Given the description of an element on the screen output the (x, y) to click on. 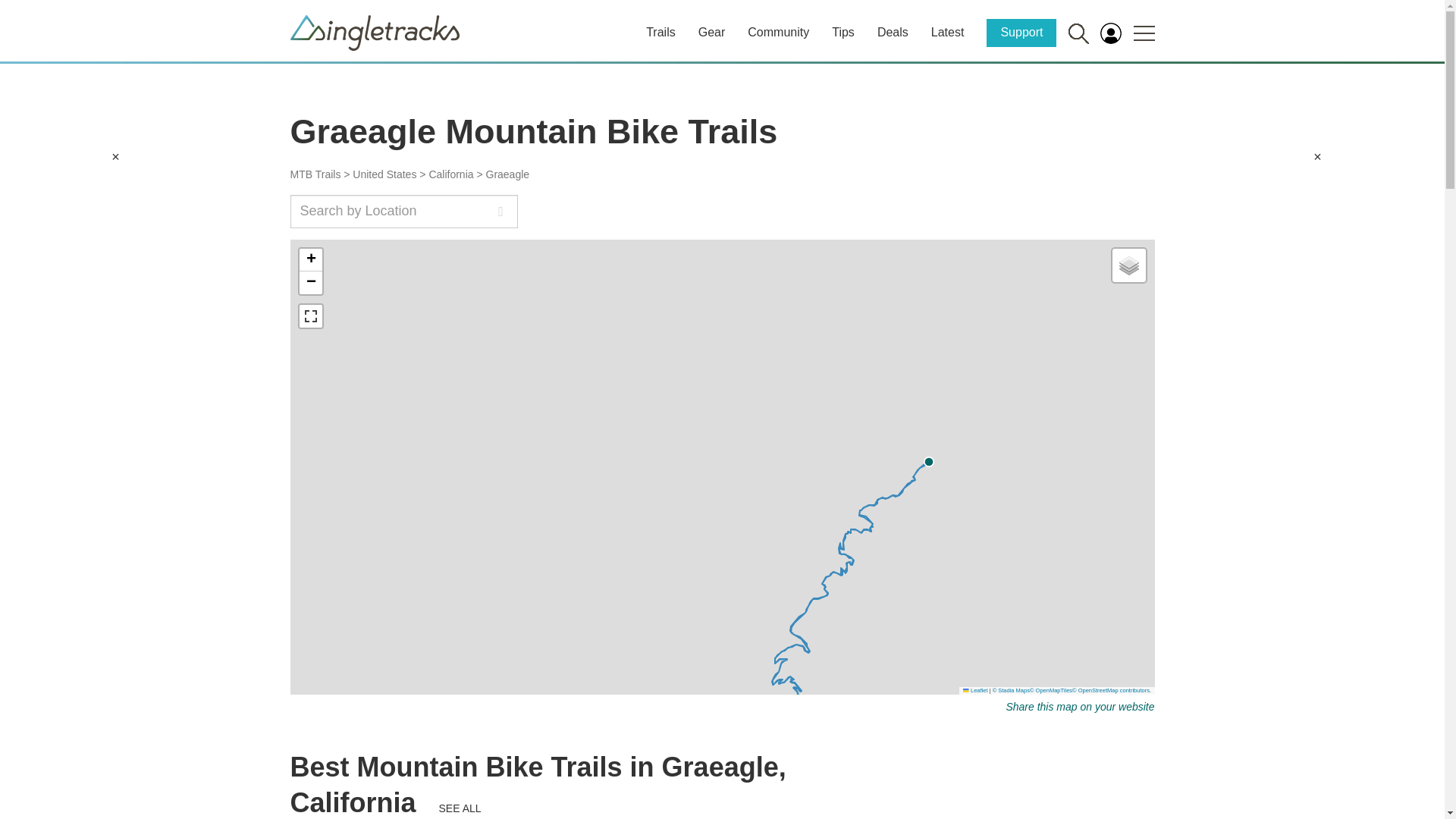
Deals (892, 31)
Latest (947, 31)
Tips (842, 31)
close (1317, 156)
Trails (660, 31)
Support (1022, 32)
Gear (711, 31)
close (115, 156)
Community (778, 31)
